Given the description of an element on the screen output the (x, y) to click on. 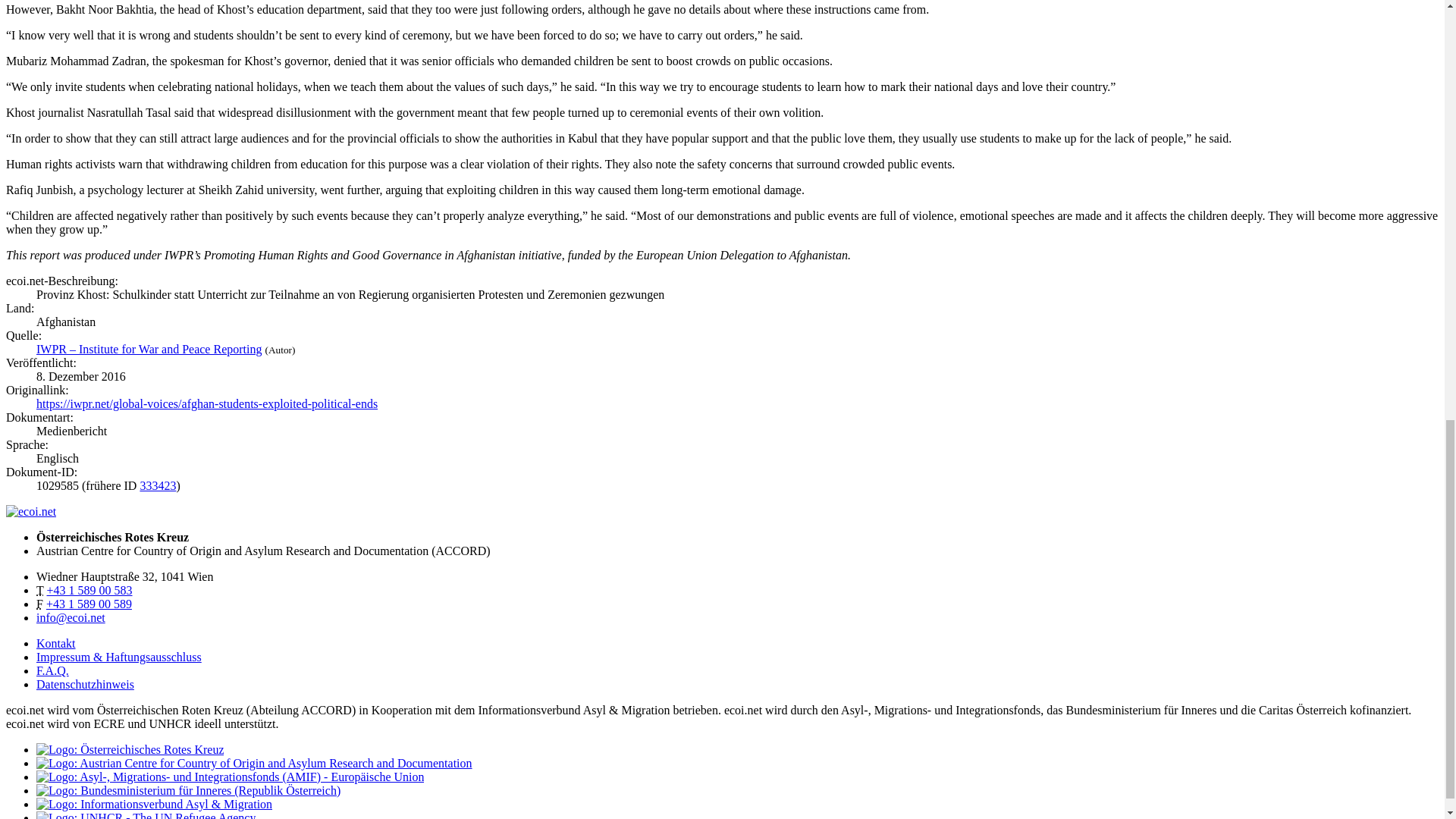
Telefon (89, 590)
Kontakt (55, 643)
Datenschutzhinweis (84, 684)
Quellenbeschreibung lesen (149, 349)
333423 (157, 485)
Fax (89, 603)
F.A.Q. (52, 670)
